Given the description of an element on the screen output the (x, y) to click on. 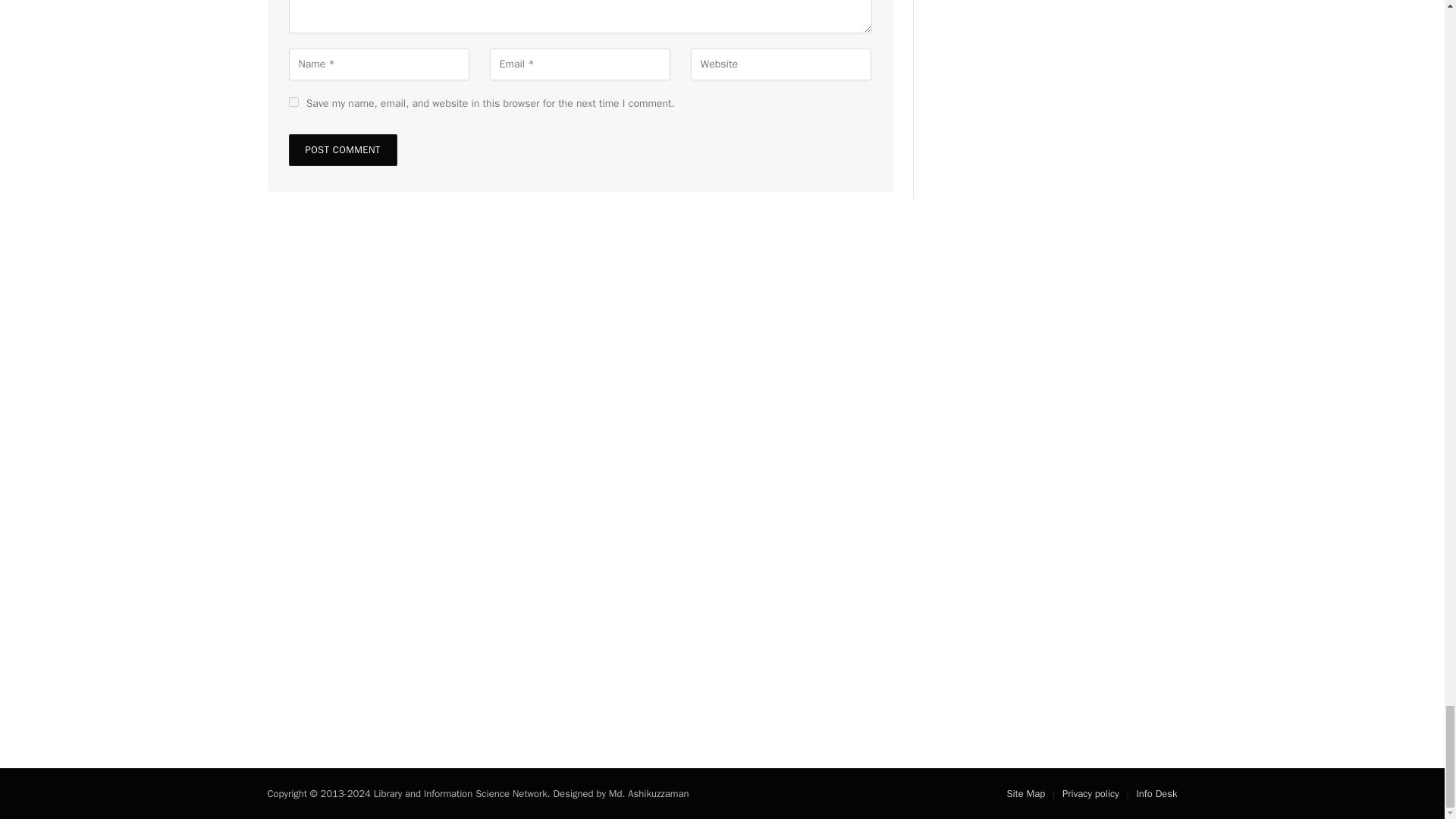
Post Comment (342, 150)
yes (293, 102)
